Given the description of an element on the screen output the (x, y) to click on. 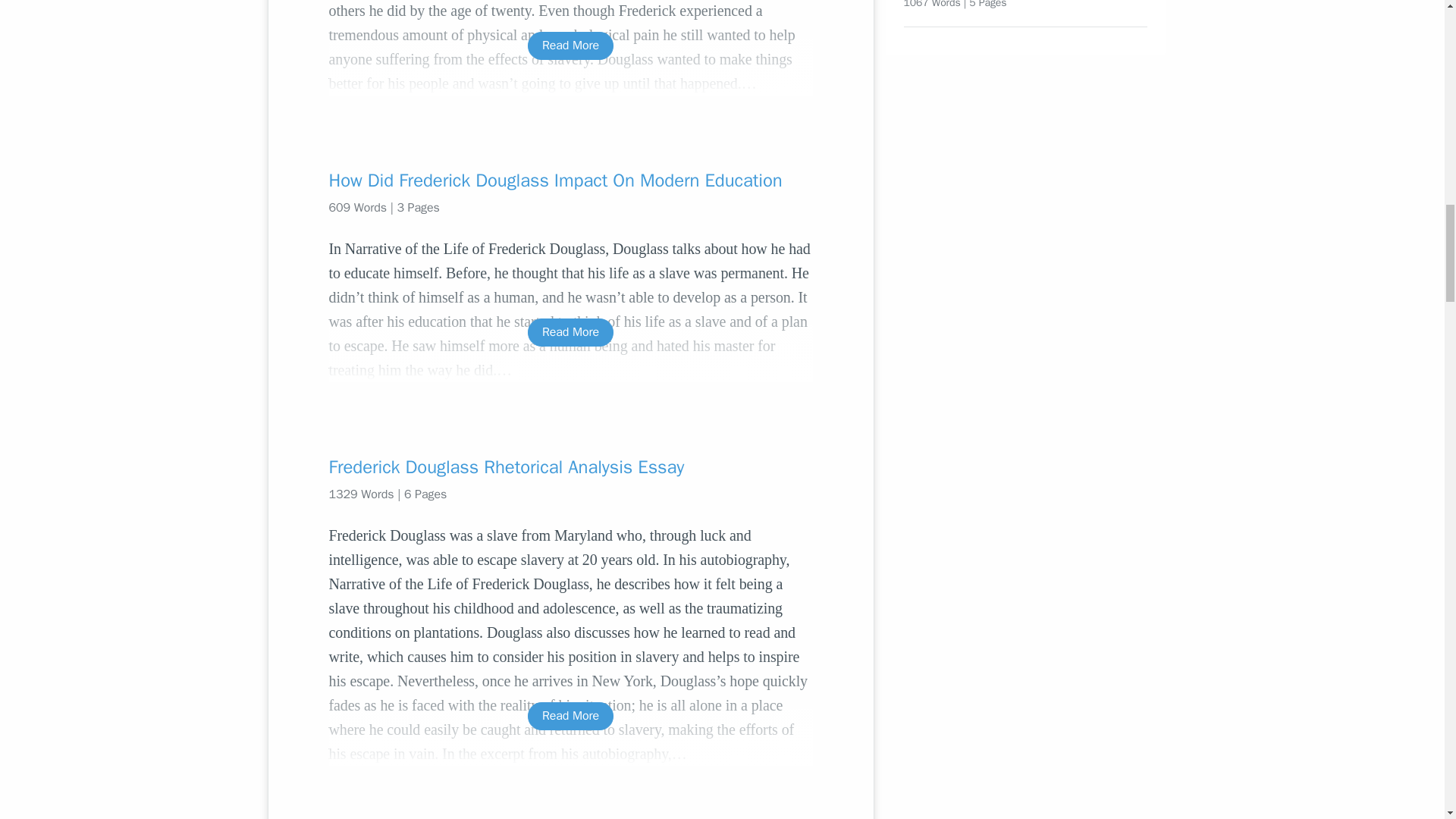
Read More (569, 715)
Read More (569, 332)
Read More (569, 45)
How Did Frederick Douglass Impact On Modern Education (570, 180)
Frederick Douglass Rhetorical Analysis Essay (570, 467)
